Given the description of an element on the screen output the (x, y) to click on. 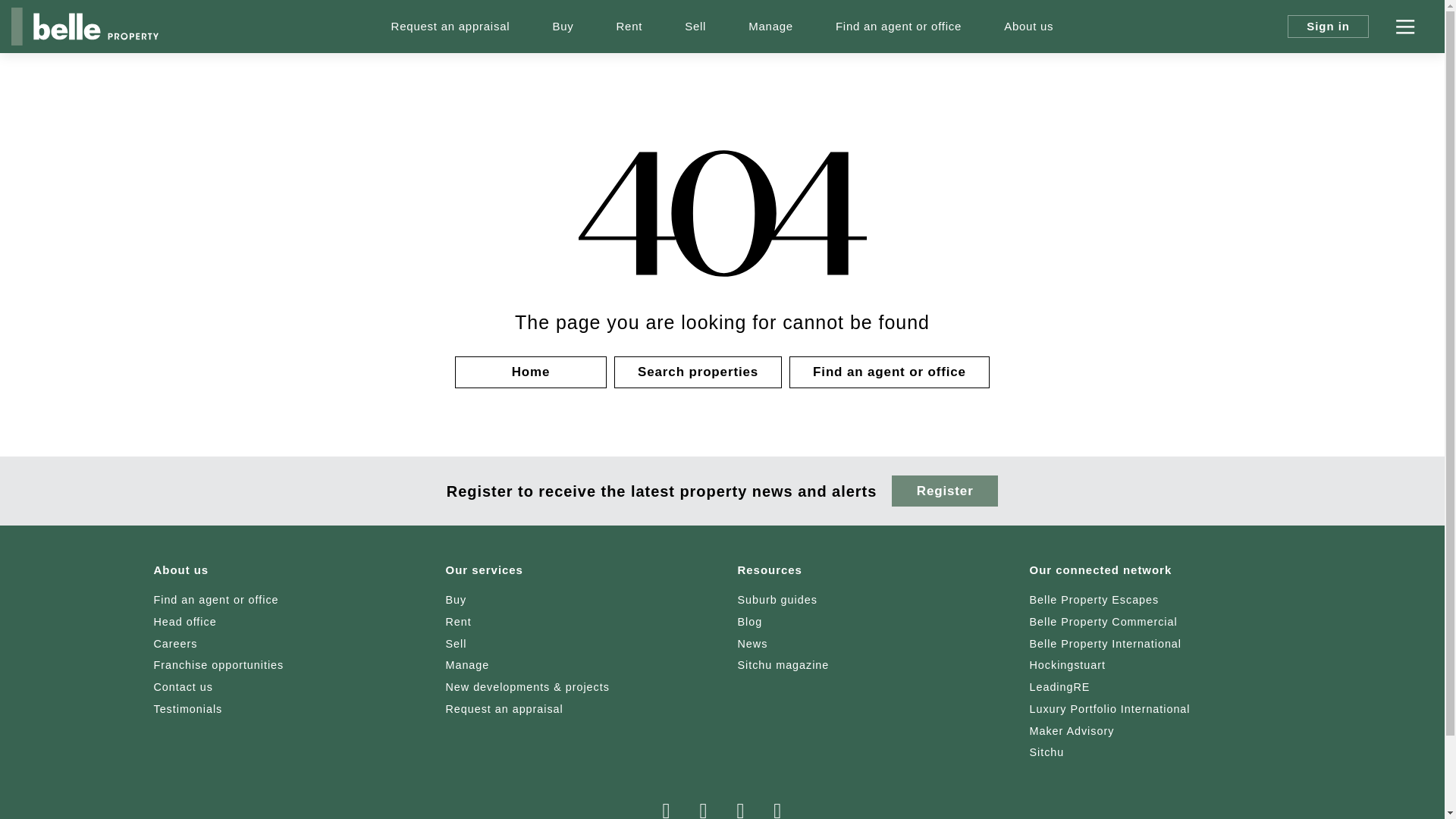
Manage (770, 26)
Sell (695, 26)
Find an agent or office (898, 26)
Buy (562, 26)
Request an appraisal (450, 26)
Rent (629, 26)
About us (1028, 26)
